Given the description of an element on the screen output the (x, y) to click on. 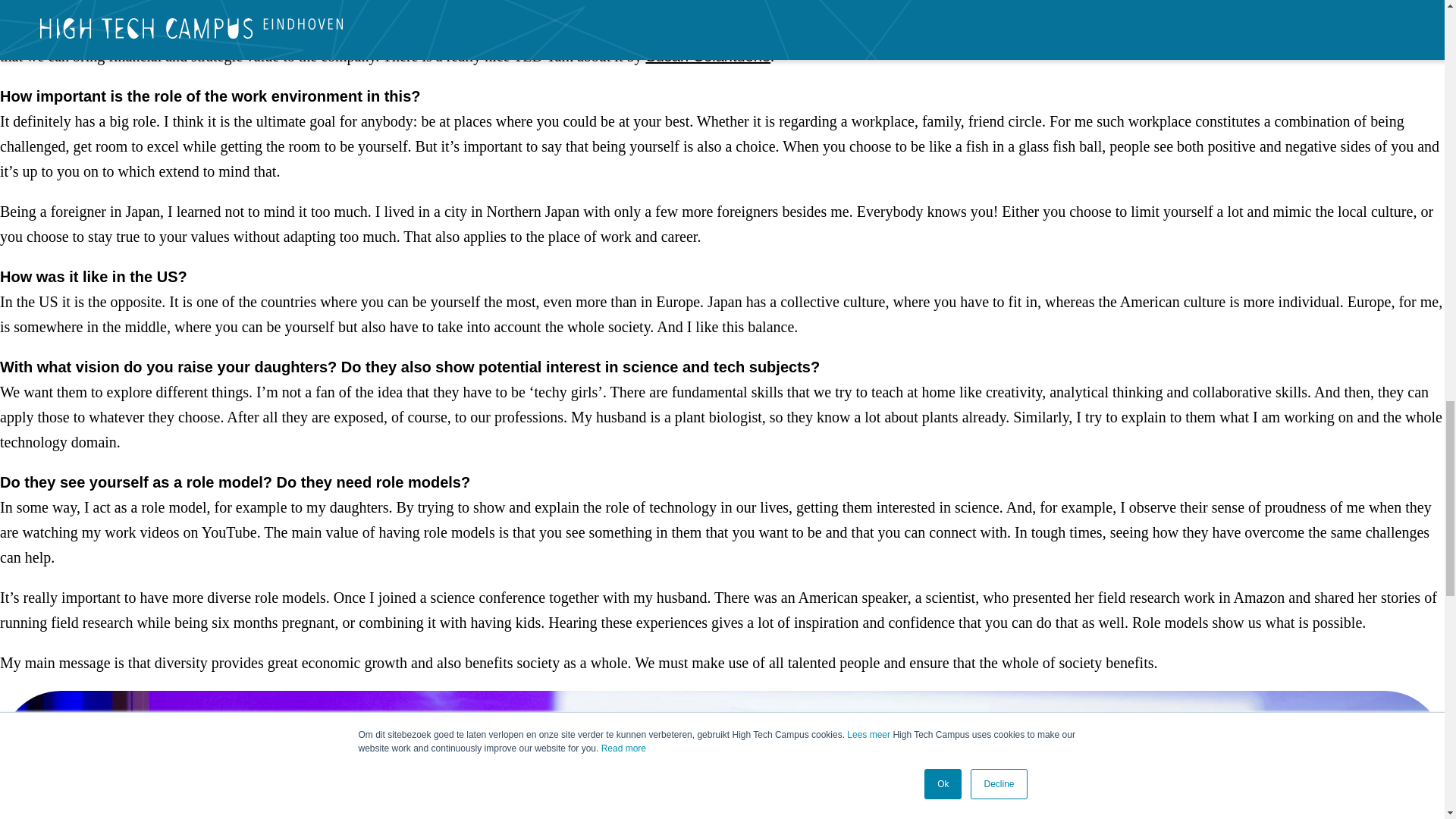
Susan Colantuono (707, 55)
